Given the description of an element on the screen output the (x, y) to click on. 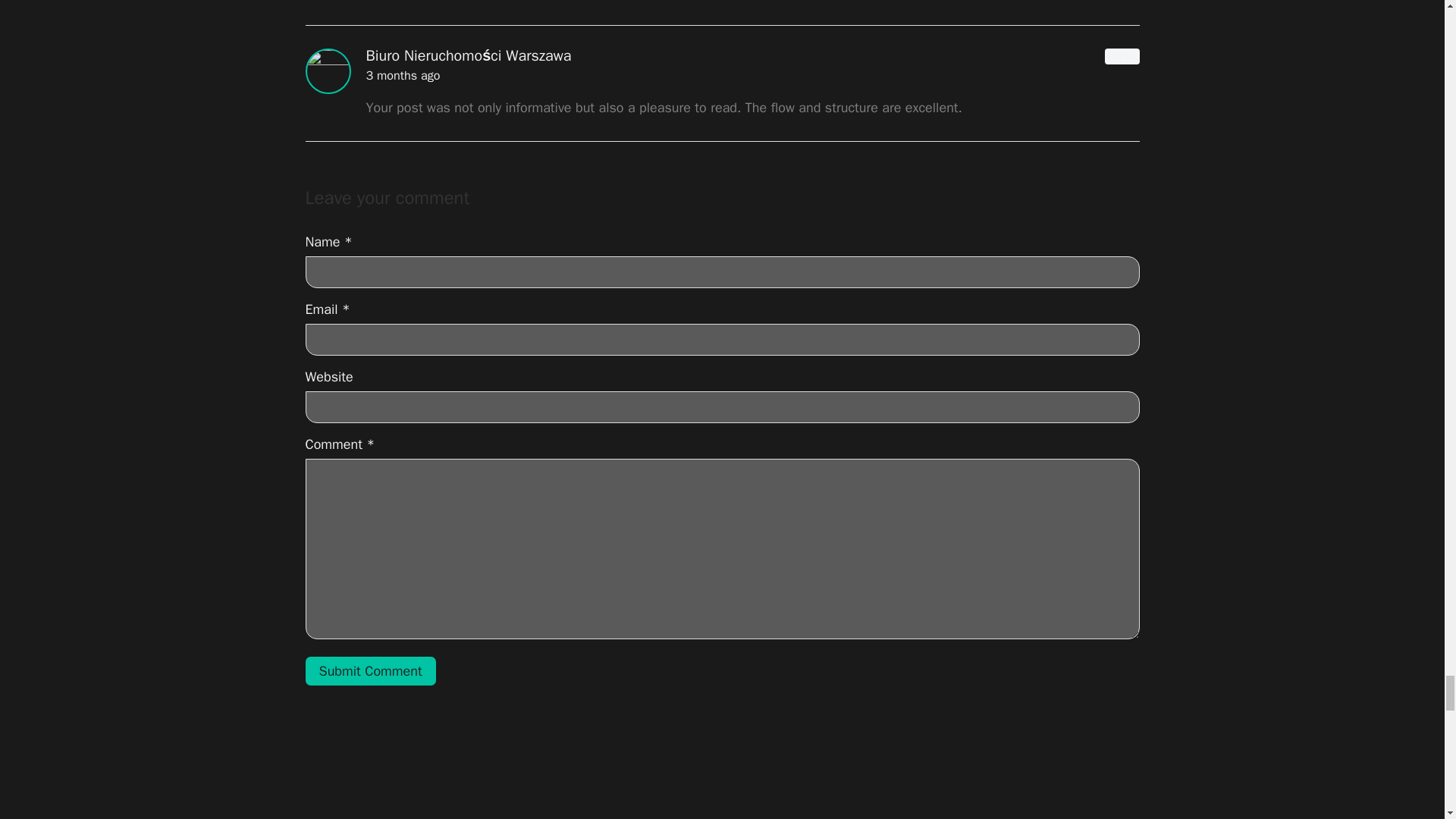
REPLY (1122, 56)
Submit Comment (369, 671)
Submit Comment (369, 671)
3 months ago (402, 75)
